Given the description of an element on the screen output the (x, y) to click on. 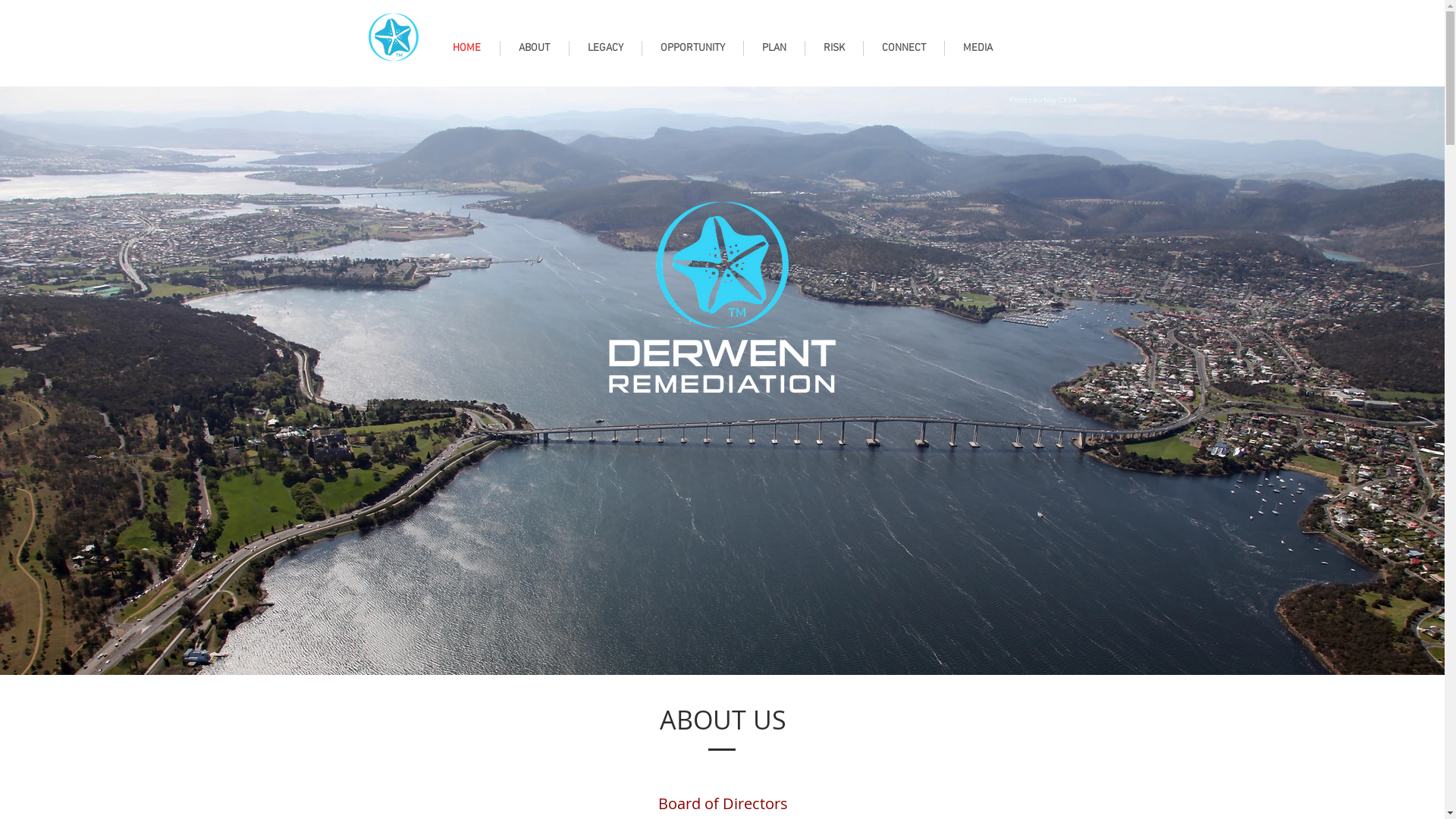
OPPORTUNITY Element type: text (691, 48)
Photo courtesy CASA Element type: text (1042, 100)
RISK Element type: text (833, 48)
PLAN Element type: text (773, 48)
HOME Element type: text (465, 48)
CONNECT Element type: text (902, 48)
MEDIA Element type: text (977, 48)
ABOUT Element type: text (534, 48)
LEGACY Element type: text (604, 48)
